Given the description of an element on the screen output the (x, y) to click on. 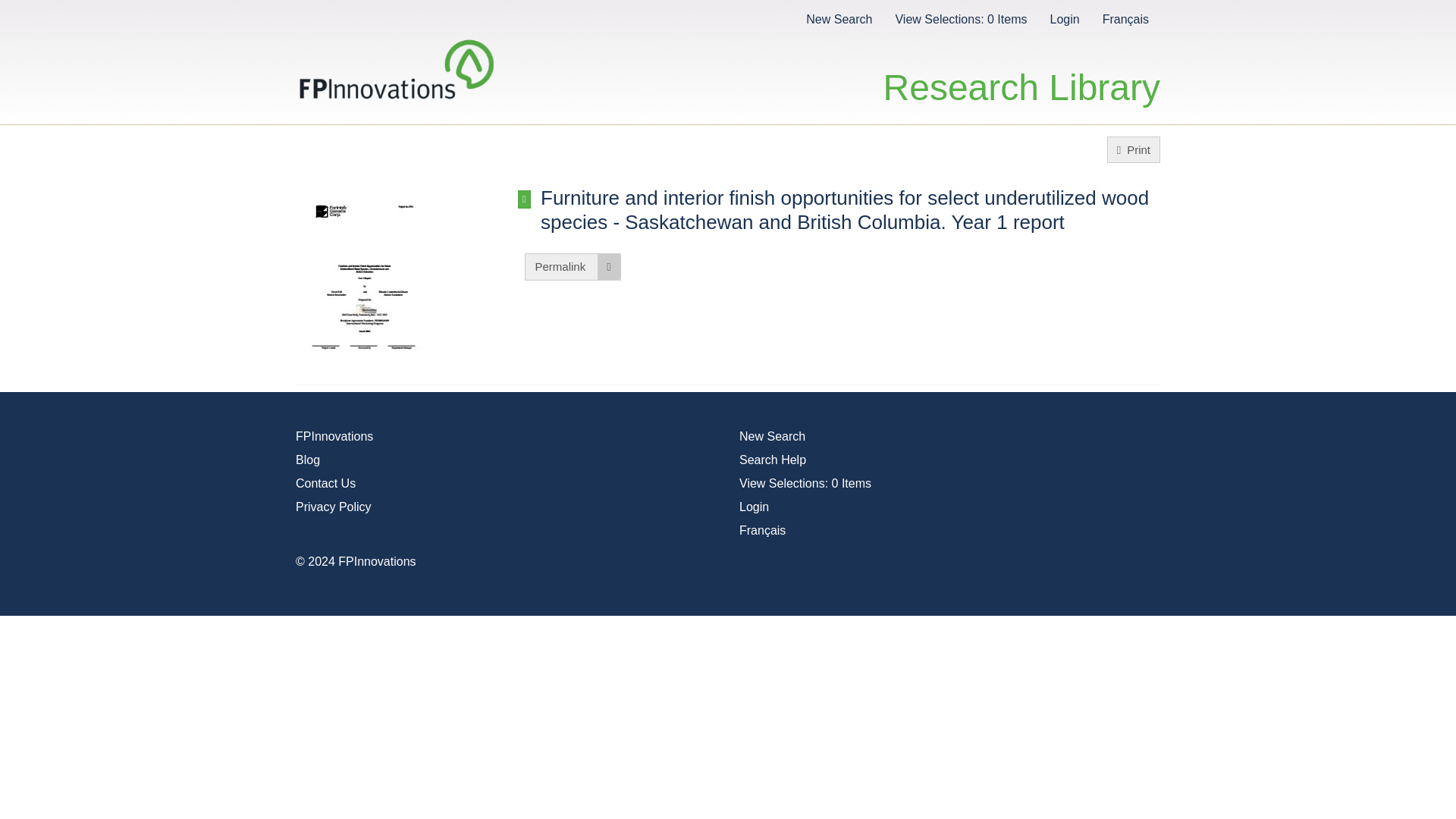
New Search (838, 18)
Login (1064, 18)
Blog (307, 459)
Toggle Full Record (849, 209)
Permalink (572, 266)
View Selections: 0 Items (960, 18)
Permalink (572, 266)
New Search (772, 436)
Login (753, 506)
Print (1133, 149)
